Given the description of an element on the screen output the (x, y) to click on. 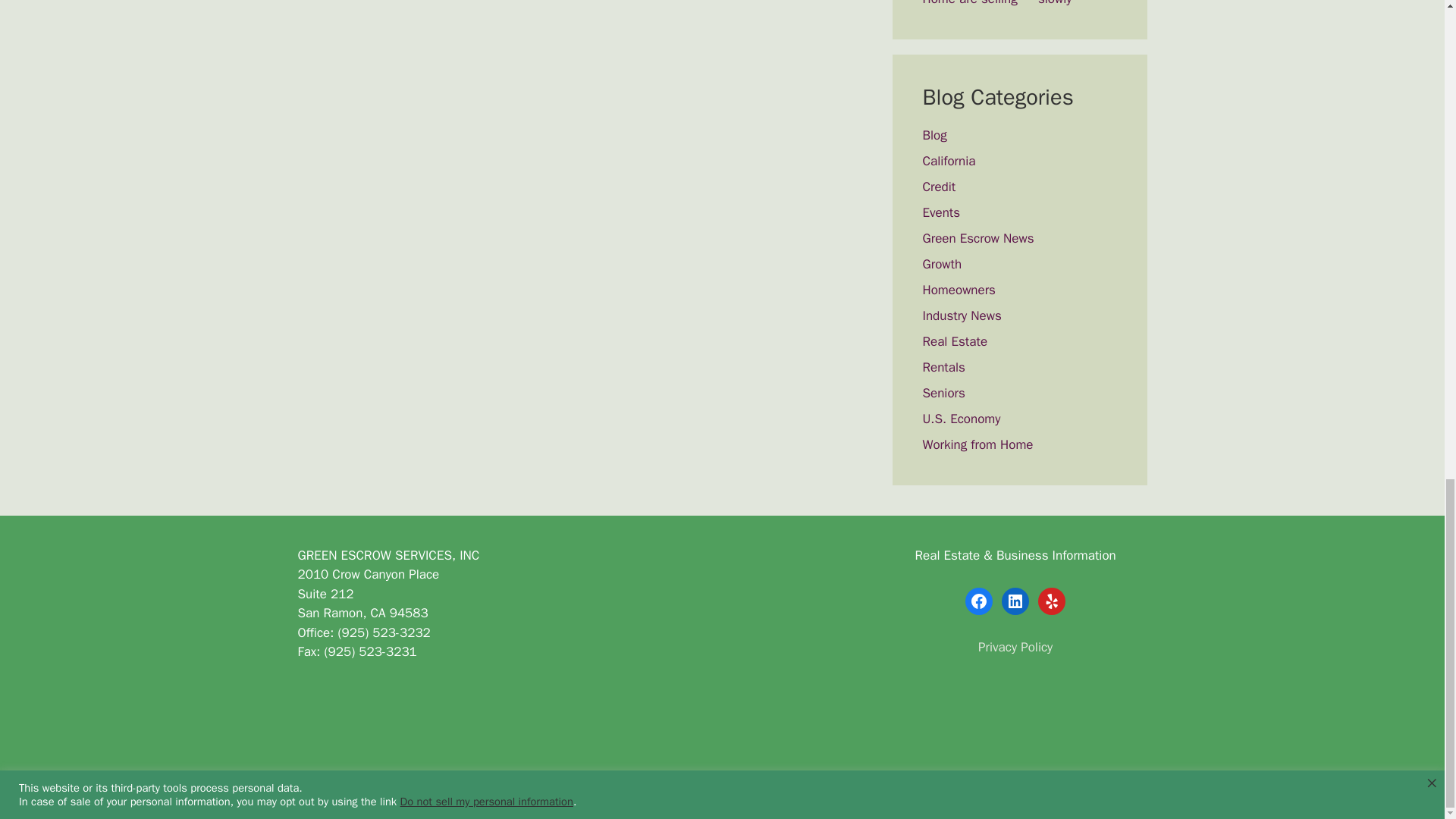
Scroll back to top (1406, 371)
